Given the description of an element on the screen output the (x, y) to click on. 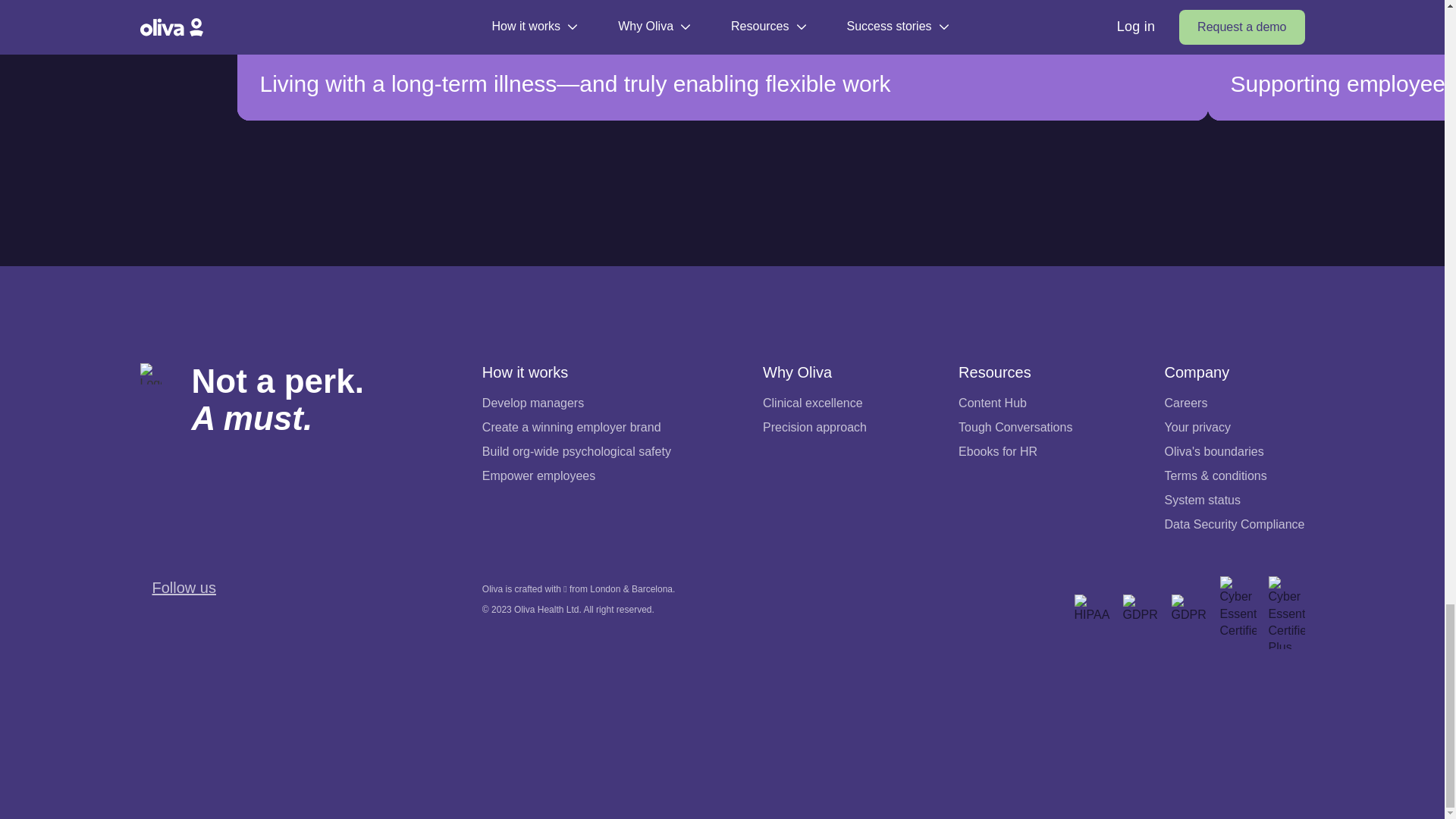
Create a winning employer brand (571, 427)
Develop managers (285, 399)
